Given the description of an element on the screen output the (x, y) to click on. 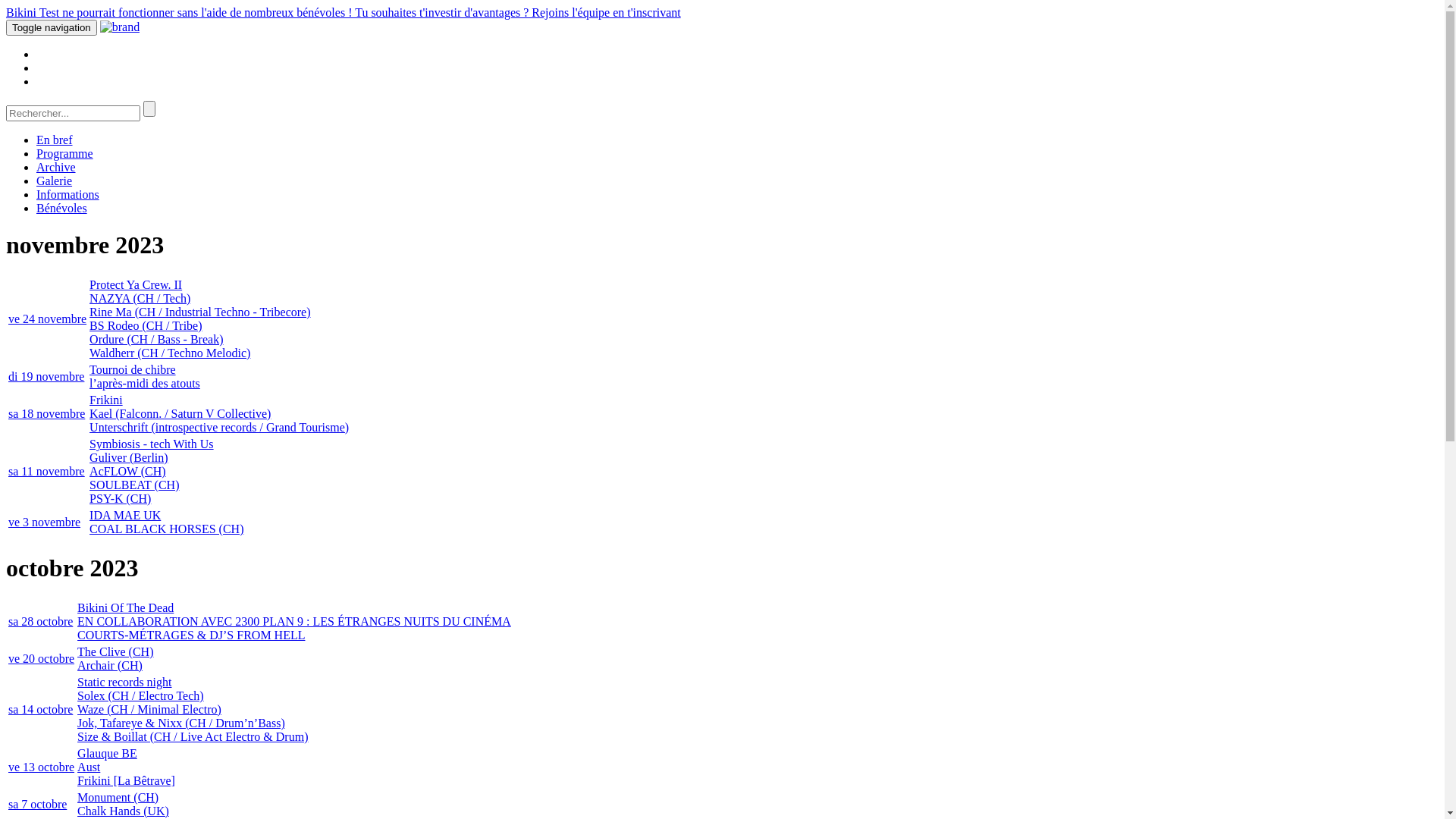
sa 28 octobre Element type: text (40, 621)
ve 20 octobre Element type: text (41, 658)
Archive Element type: text (55, 166)
Monument (CH)
Chalk Hands (UK) Element type: text (123, 803)
ve 13 octobre Element type: text (41, 766)
The Clive (CH)
Archair (CH) Element type: text (115, 658)
Toggle navigation Element type: text (51, 27)
di 19 novembre Element type: text (46, 376)
sa 14 octobre Element type: text (40, 708)
Programme Element type: text (64, 153)
En bref Element type: text (54, 139)
ve 3 novembre Element type: text (44, 521)
IDA MAE UK
COAL BLACK HORSES (CH) Element type: text (166, 521)
Informations Element type: text (67, 194)
sa 18 novembre Element type: text (46, 413)
sa 7 octobre Element type: text (37, 803)
sa 11 novembre Element type: text (46, 470)
ve 24 novembre Element type: text (47, 318)
Galerie Element type: text (54, 180)
